Given the description of an element on the screen output the (x, y) to click on. 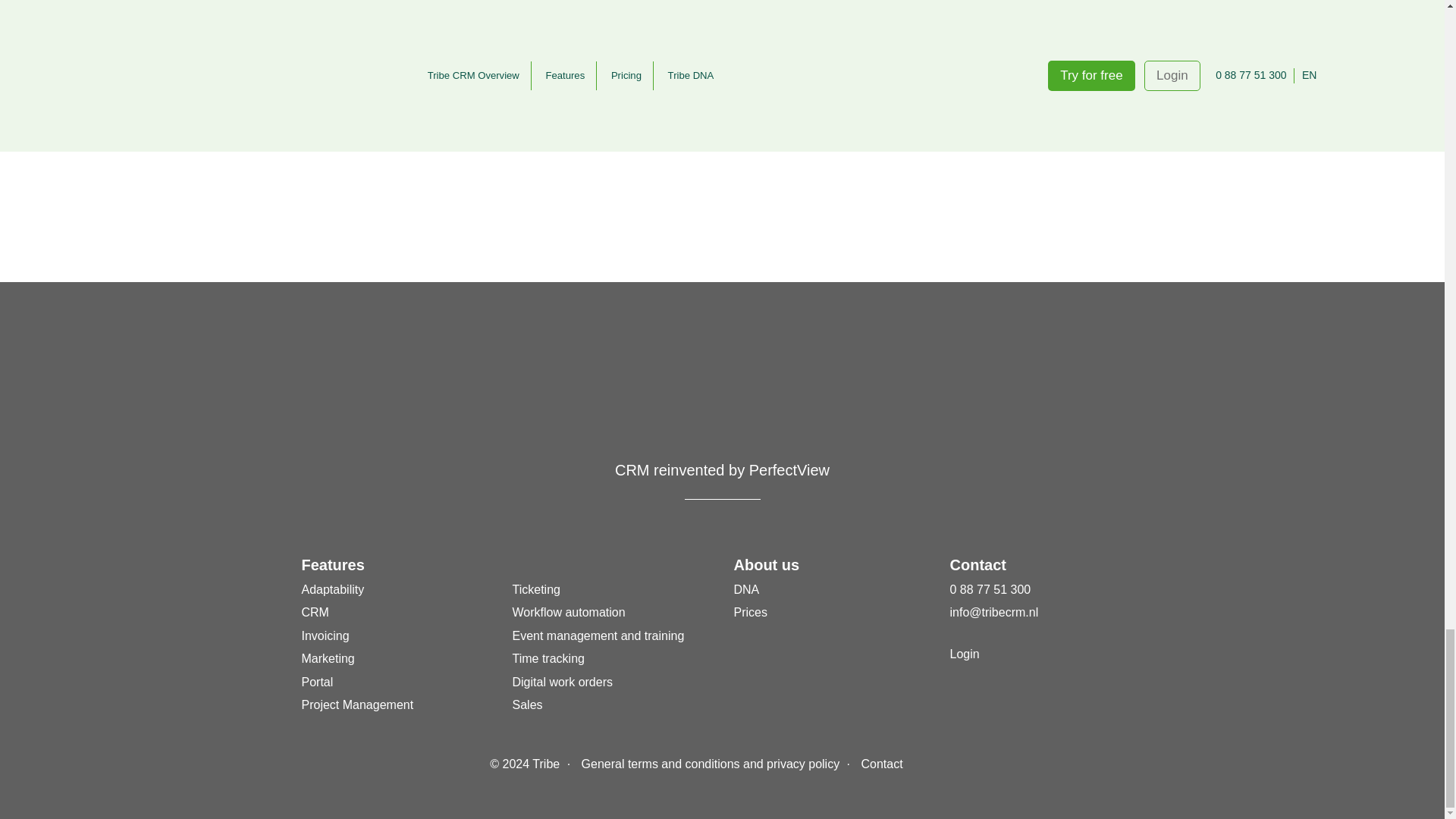
Adaptability (333, 589)
Invoicing (325, 635)
Workflow automation (569, 612)
CRM (315, 612)
Event management and training (598, 635)
Portal (317, 681)
Project Management (357, 704)
Marketing (328, 658)
Ticketing (536, 589)
